Given the description of an element on the screen output the (x, y) to click on. 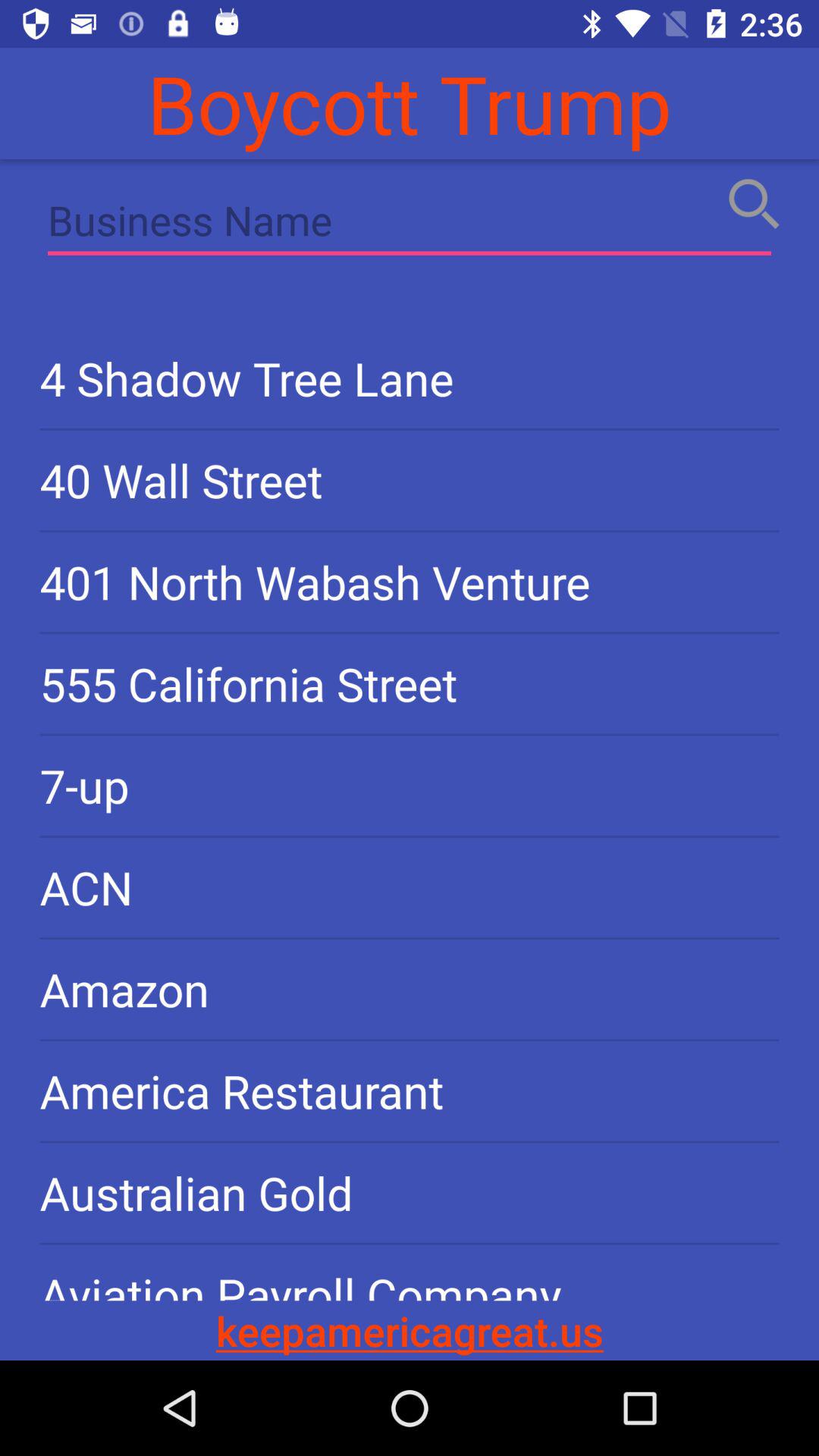
open the item above the amazon (409, 887)
